Given the description of an element on the screen output the (x, y) to click on. 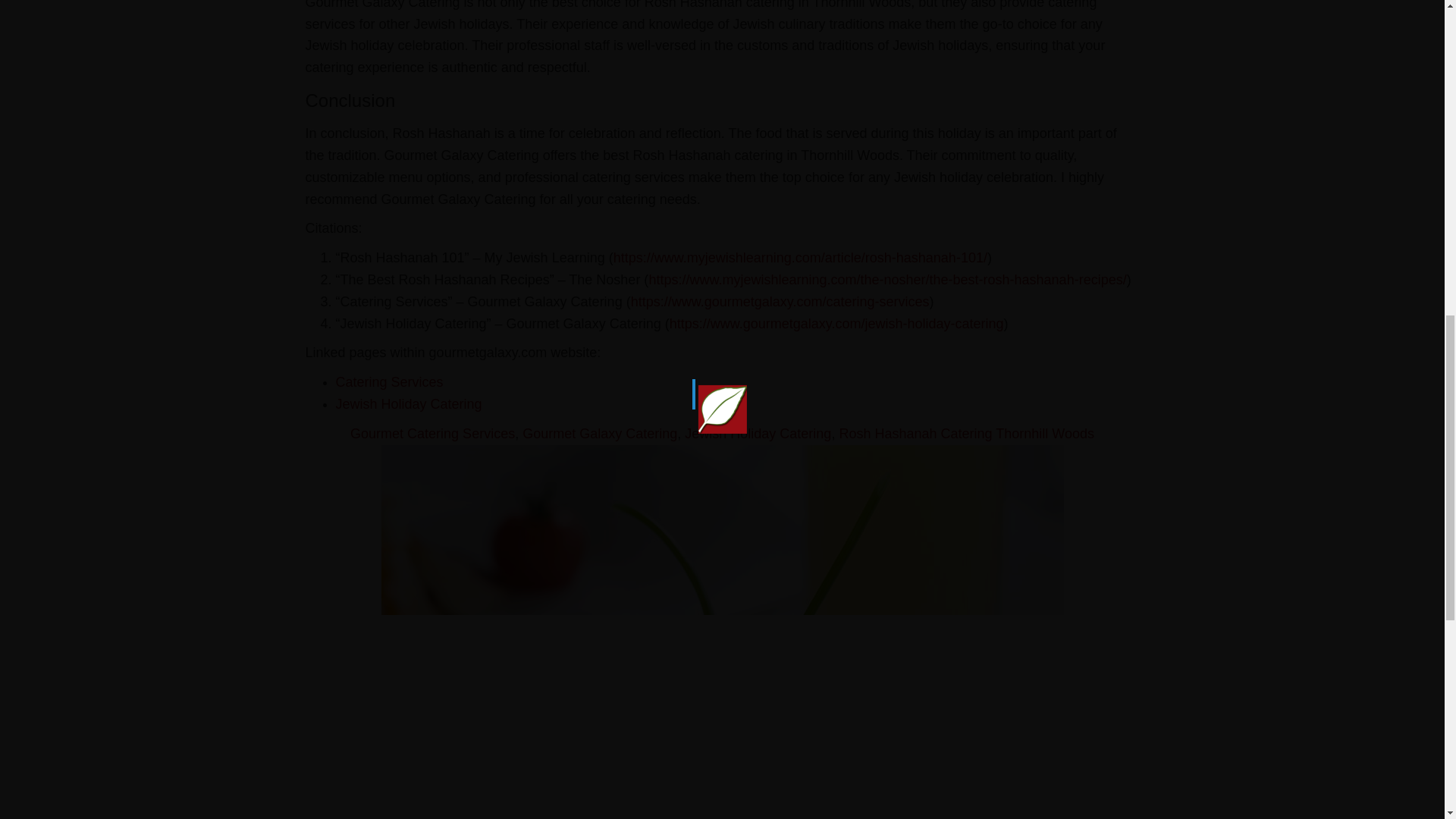
Jewish Holiday Catering (407, 403)
Gourmet Catering Services (432, 433)
Catering Services (388, 381)
Gourmet Galaxy Catering (599, 433)
Rosh Hashanah Catering Thornhill Woods (966, 433)
Jewish Holiday Catering (757, 433)
